Given the description of an element on the screen output the (x, y) to click on. 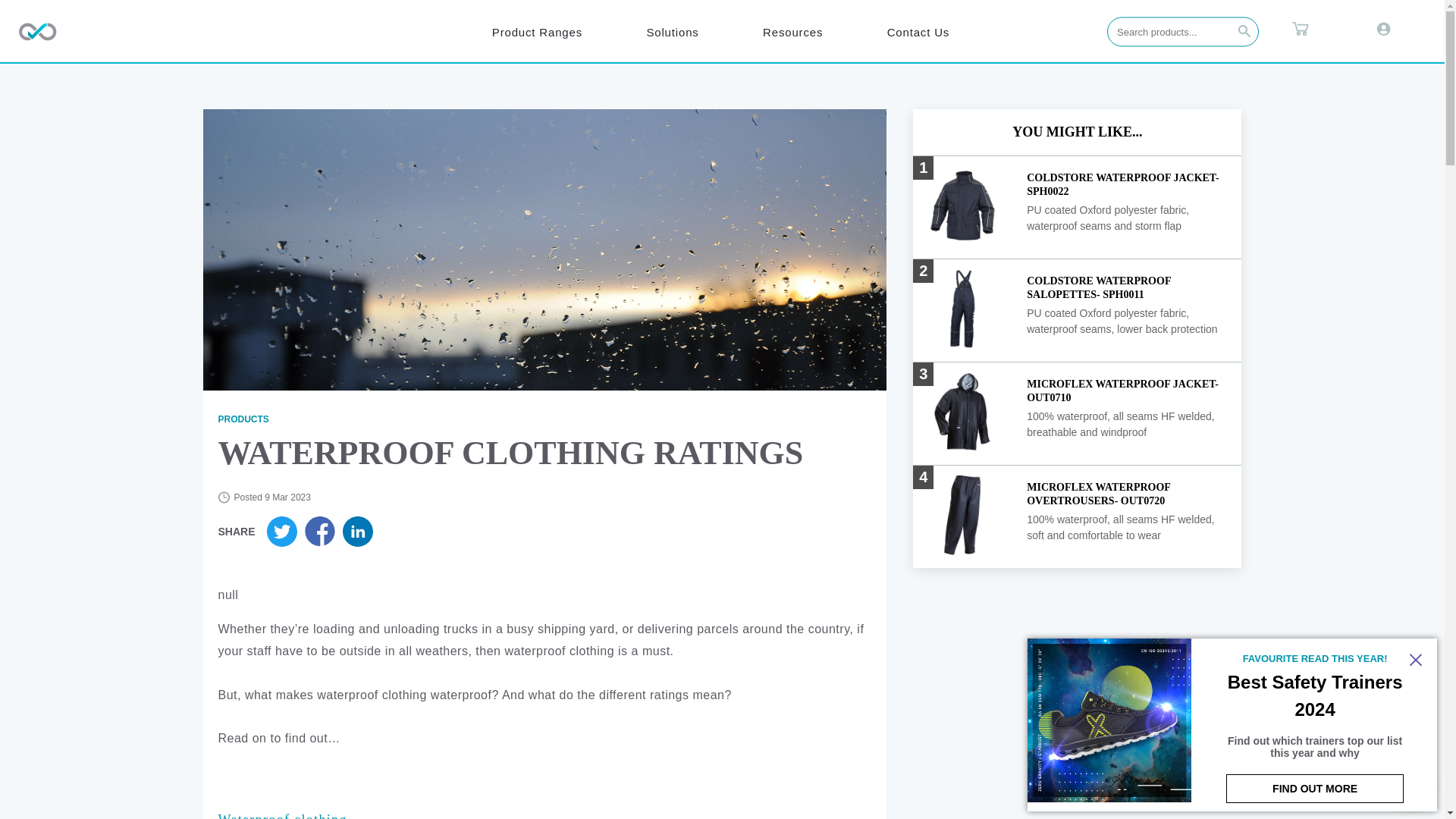
Coldstore Waterproof Jacket- SPH0022 (1125, 186)
Facebook (323, 531)
Microflex Waterproof Overtrousers- OUT0720 (1125, 495)
Coldstore Waterproof Salopettes- SPH0011 (1125, 289)
Microflex Waterproof Jacket- OUT0710 (1125, 392)
Popup CTA (1232, 724)
Facebook (357, 531)
Twitter (285, 531)
